Given the description of an element on the screen output the (x, y) to click on. 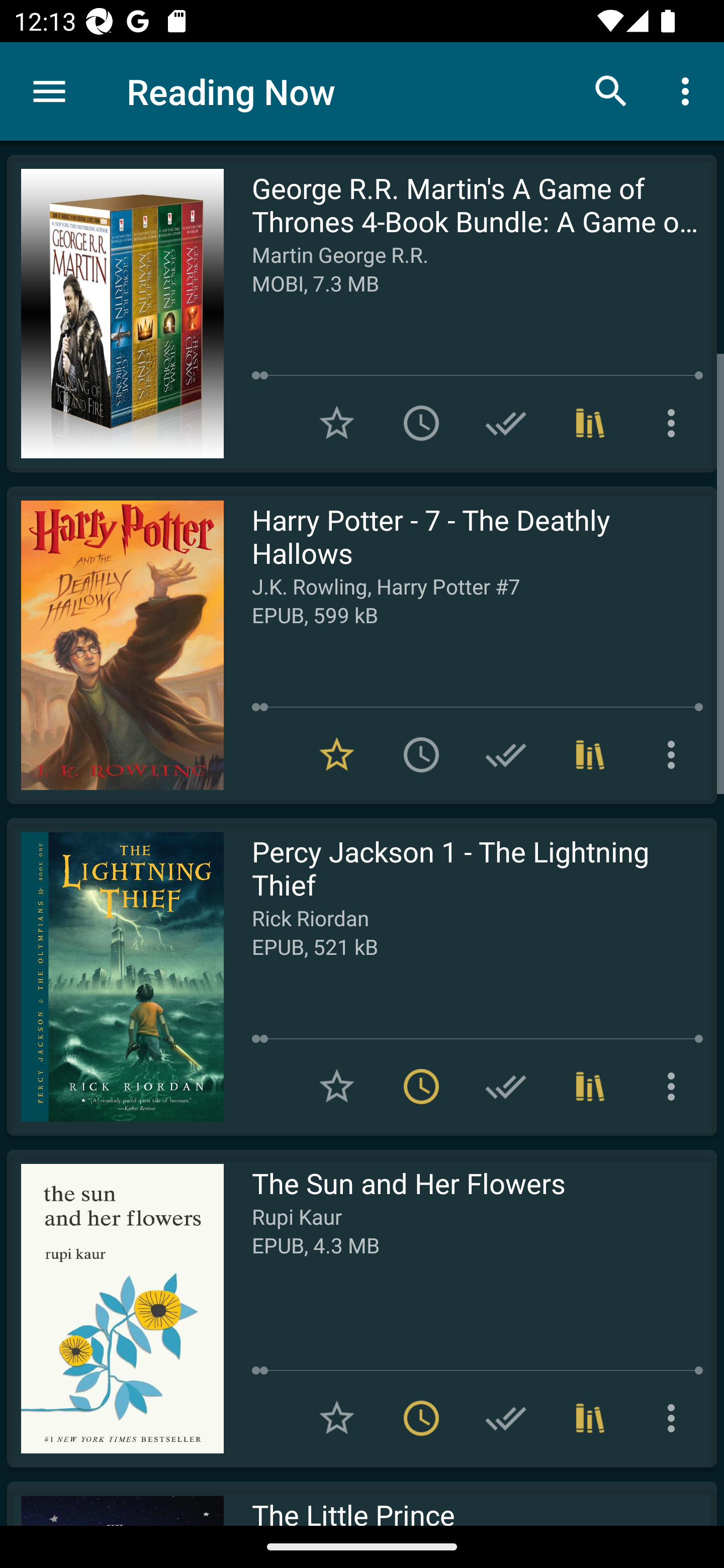
Menu (49, 91)
Search books & documents (611, 90)
More options (688, 90)
Add to Favorites (336, 423)
Add to To read (421, 423)
Add to Have read (505, 423)
Collections (1) (590, 423)
More options (674, 423)
Read Harry Potter - 7 - The Deathly Hallows (115, 645)
Remove from Favorites (336, 753)
Add to To read (421, 753)
Add to Have read (505, 753)
Collections (1) (590, 753)
More options (674, 753)
Read Percy Jackson 1 - The Lightning Thief (115, 976)
Add to Favorites (336, 1086)
Remove from To read (421, 1086)
Add to Have read (505, 1086)
Collections (1) (590, 1086)
More options (674, 1086)
Read The Sun and Her Flowers (115, 1308)
Add to Favorites (336, 1417)
Remove from To read (421, 1417)
Add to Have read (505, 1417)
Collections (1) (590, 1417)
More options (674, 1417)
